Given the description of an element on the screen output the (x, y) to click on. 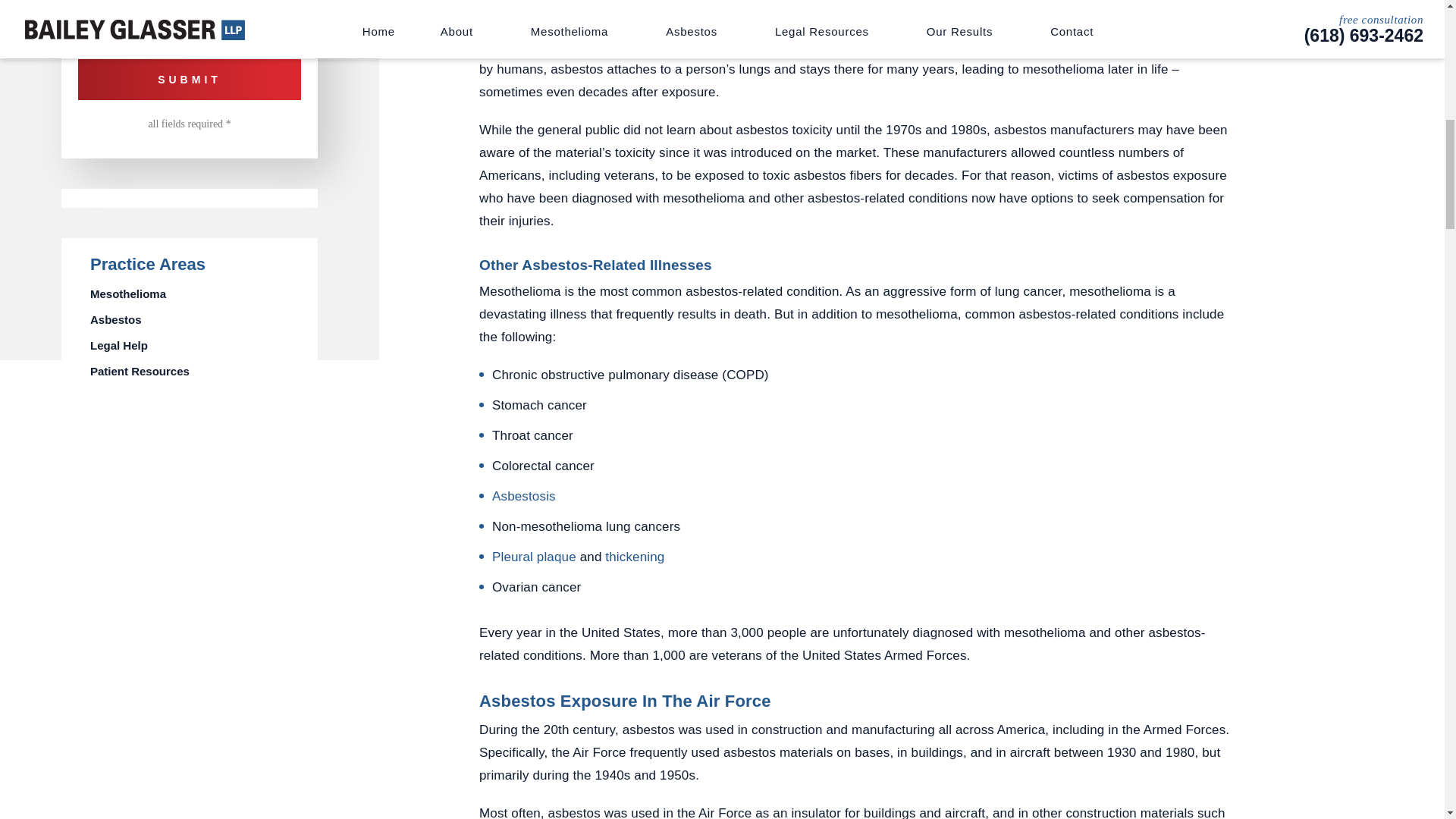
Submit (189, 78)
Asbestosis (524, 495)
1 (82, 34)
